Given the description of an element on the screen output the (x, y) to click on. 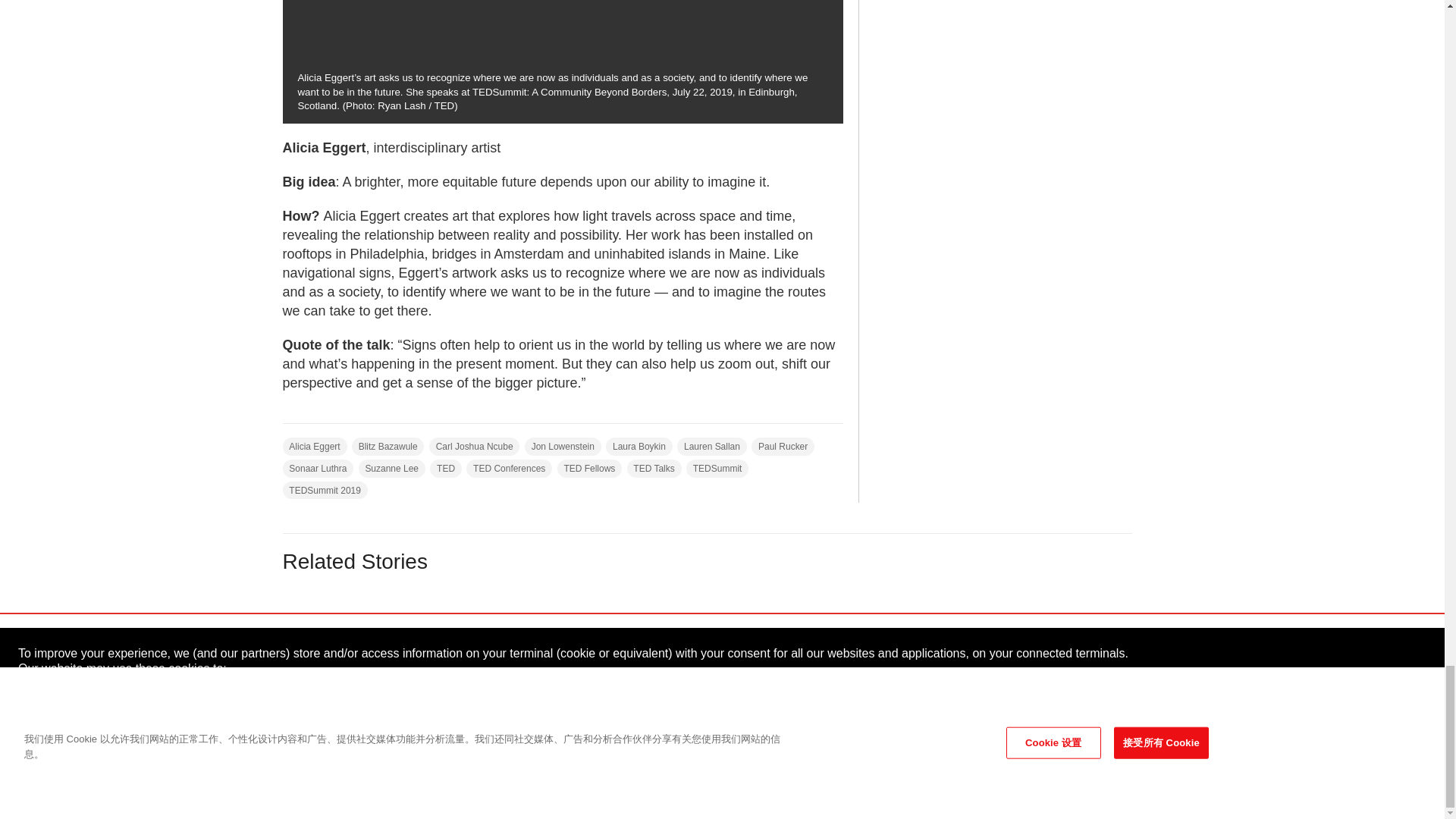
TEDSummit (716, 468)
Laura Boykin (638, 446)
TED Talks (653, 468)
Alicia Eggert (314, 446)
TED Conferences (508, 468)
TED Fellows (590, 468)
TED (313, 648)
Sonaar Luthra (317, 468)
TEDSummit 2019 (324, 490)
Carl Joshua Ncube (474, 446)
